Given the description of an element on the screen output the (x, y) to click on. 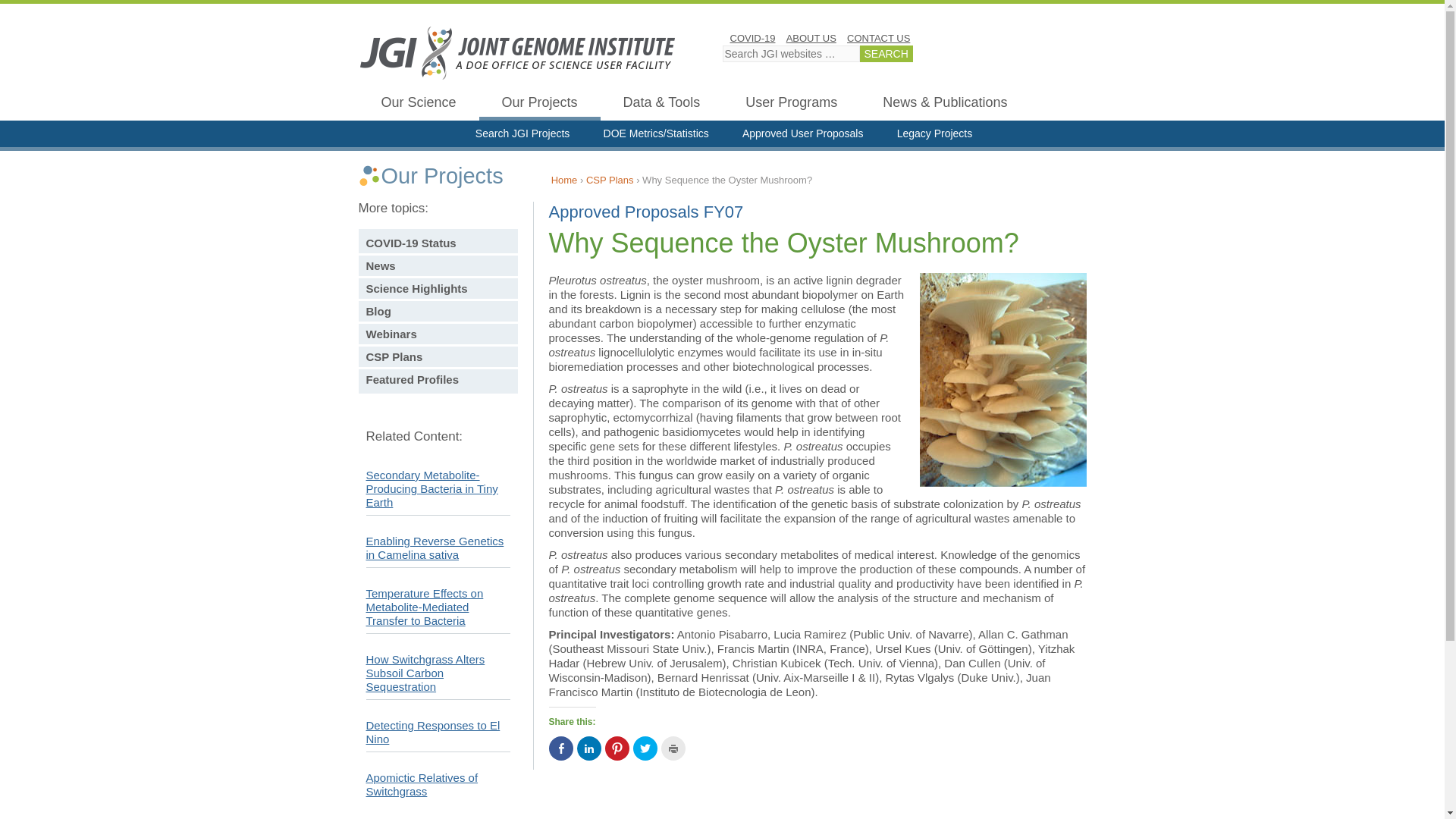
Approved User Proposals (802, 136)
Our Projects (539, 104)
Click to share on Pinterest (616, 748)
Search (886, 53)
Secondary Metabolite-Producing Bacteria in Tiny Earth (431, 488)
Search (886, 53)
Search JGI Projects (522, 136)
Legacy Projects (935, 136)
Click to share on LinkedIn (587, 748)
DOE Joint Genome Institute (517, 52)
ABOUT US (810, 38)
Detecting Responses to El Nino (432, 732)
Enabling Reverse Genetics in Camelina sativa (434, 547)
Click to share on Facebook (560, 748)
